Given the description of an element on the screen output the (x, y) to click on. 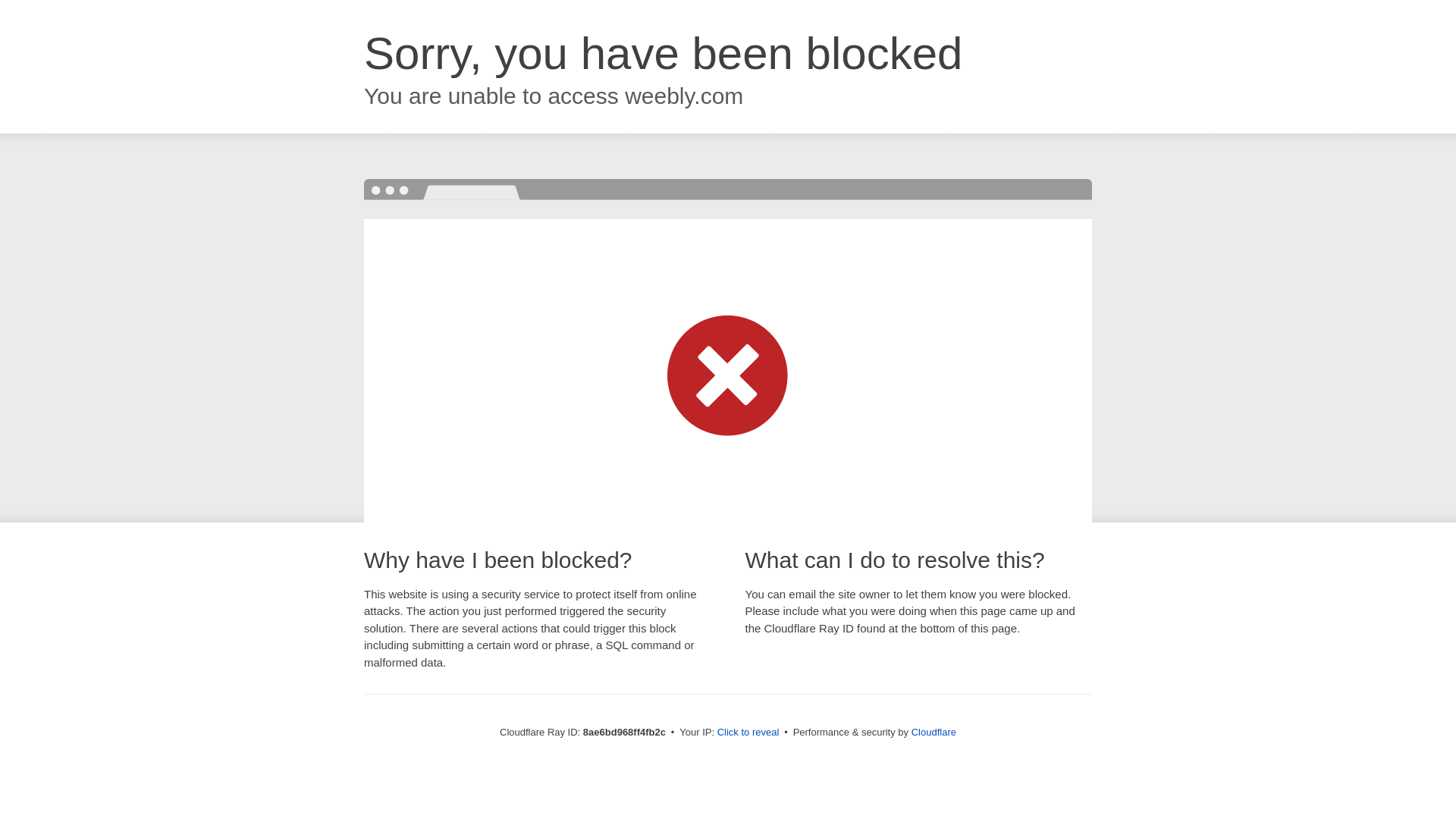
Cloudflare (933, 731)
Click to reveal (747, 732)
